Given the description of an element on the screen output the (x, y) to click on. 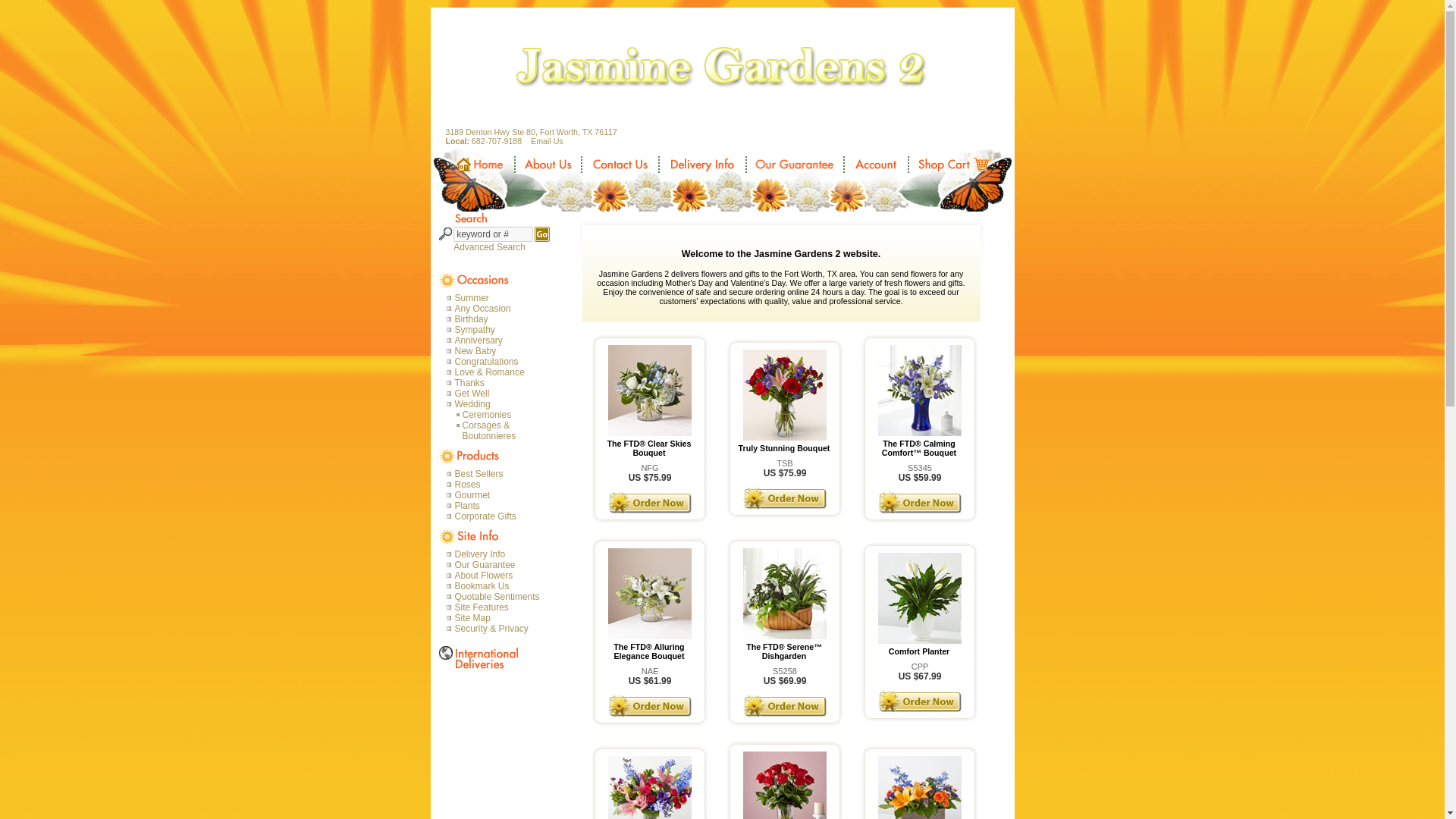
About Flowers (500, 575)
New Baby (500, 350)
Ceremonies (508, 414)
Delivery Info (500, 553)
Get Well (500, 393)
Our Guarantee (500, 564)
Advanced Search (490, 246)
Quotable Sentiments (500, 596)
go (541, 233)
Site Map (500, 617)
Gourmet (500, 494)
Any Occasion (500, 308)
Roses (500, 484)
Congratulations (500, 361)
Bookmark Us (500, 585)
